Given the description of an element on the screen output the (x, y) to click on. 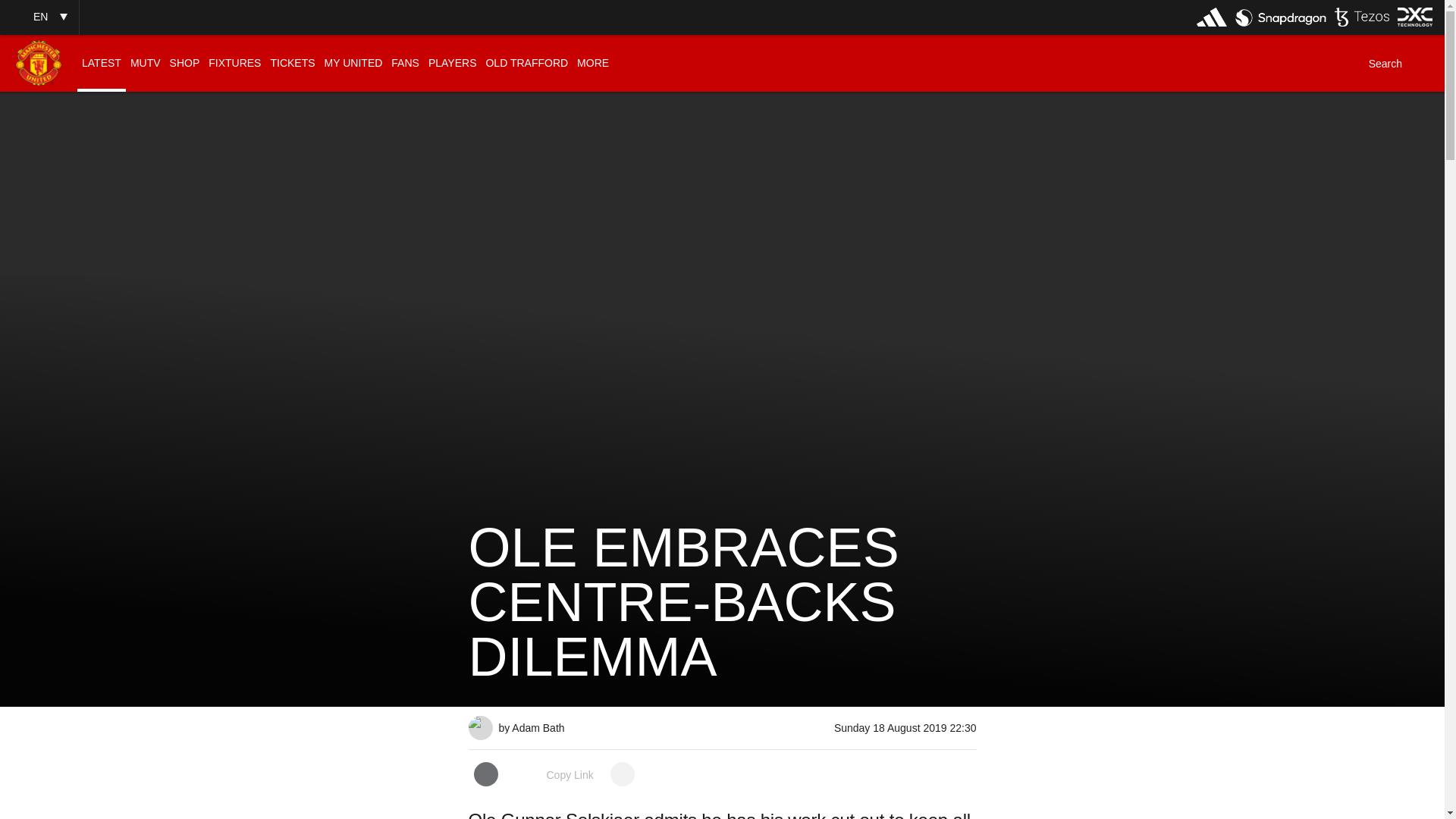
Adam Bath (480, 721)
Copy Link (552, 774)
PLAYERS (452, 63)
OLD TRAFFORD (526, 63)
TICKETS (291, 63)
MY UNITED (353, 63)
FIXTURES (233, 63)
